Given the description of an element on the screen output the (x, y) to click on. 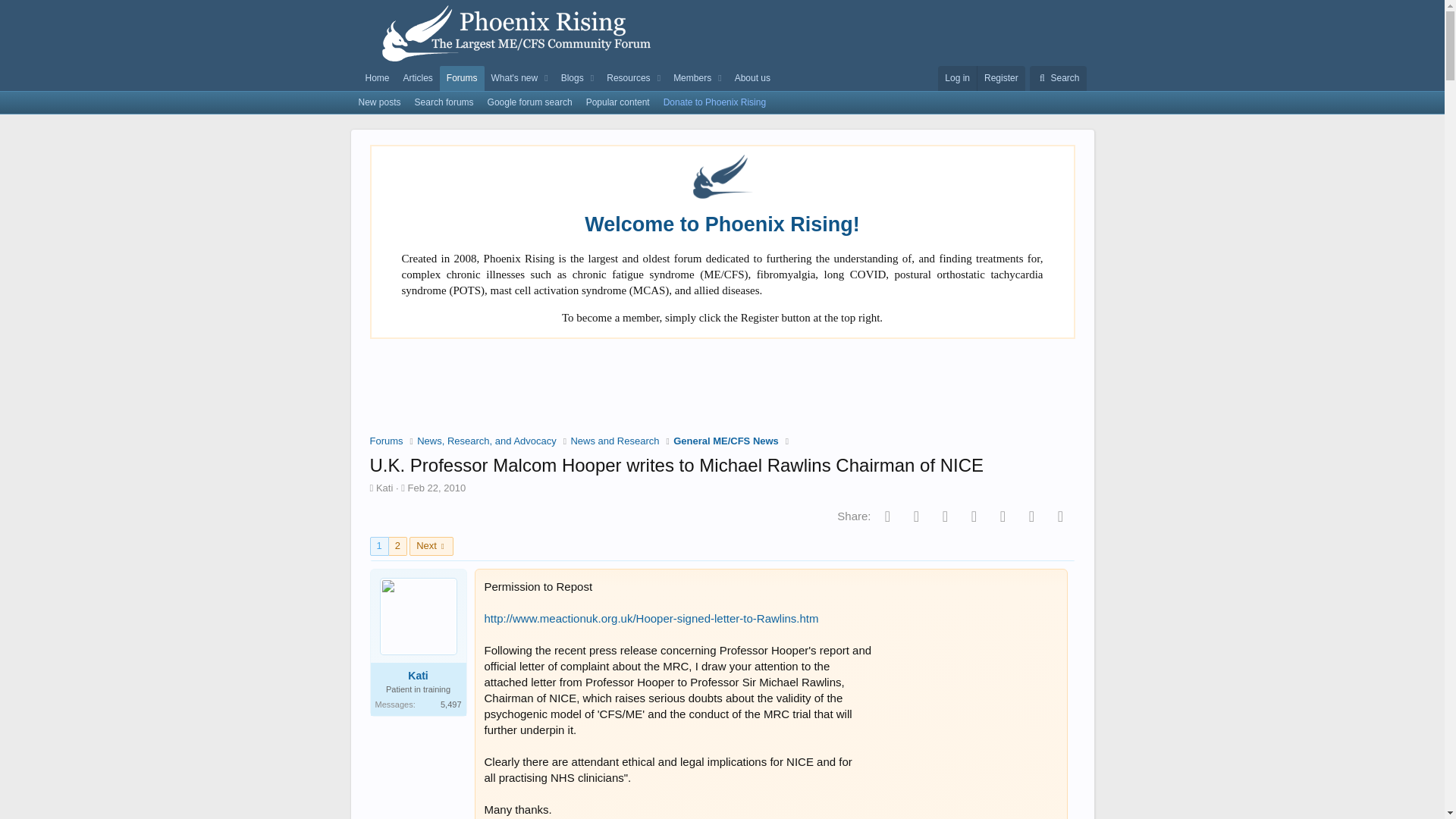
Articles (417, 78)
Search (1057, 78)
Blogs (569, 78)
Log in (956, 78)
Register (1000, 78)
Feb 22, 2010 at 1:04 PM (436, 487)
Forums (461, 78)
About us (752, 78)
